Given the description of an element on the screen output the (x, y) to click on. 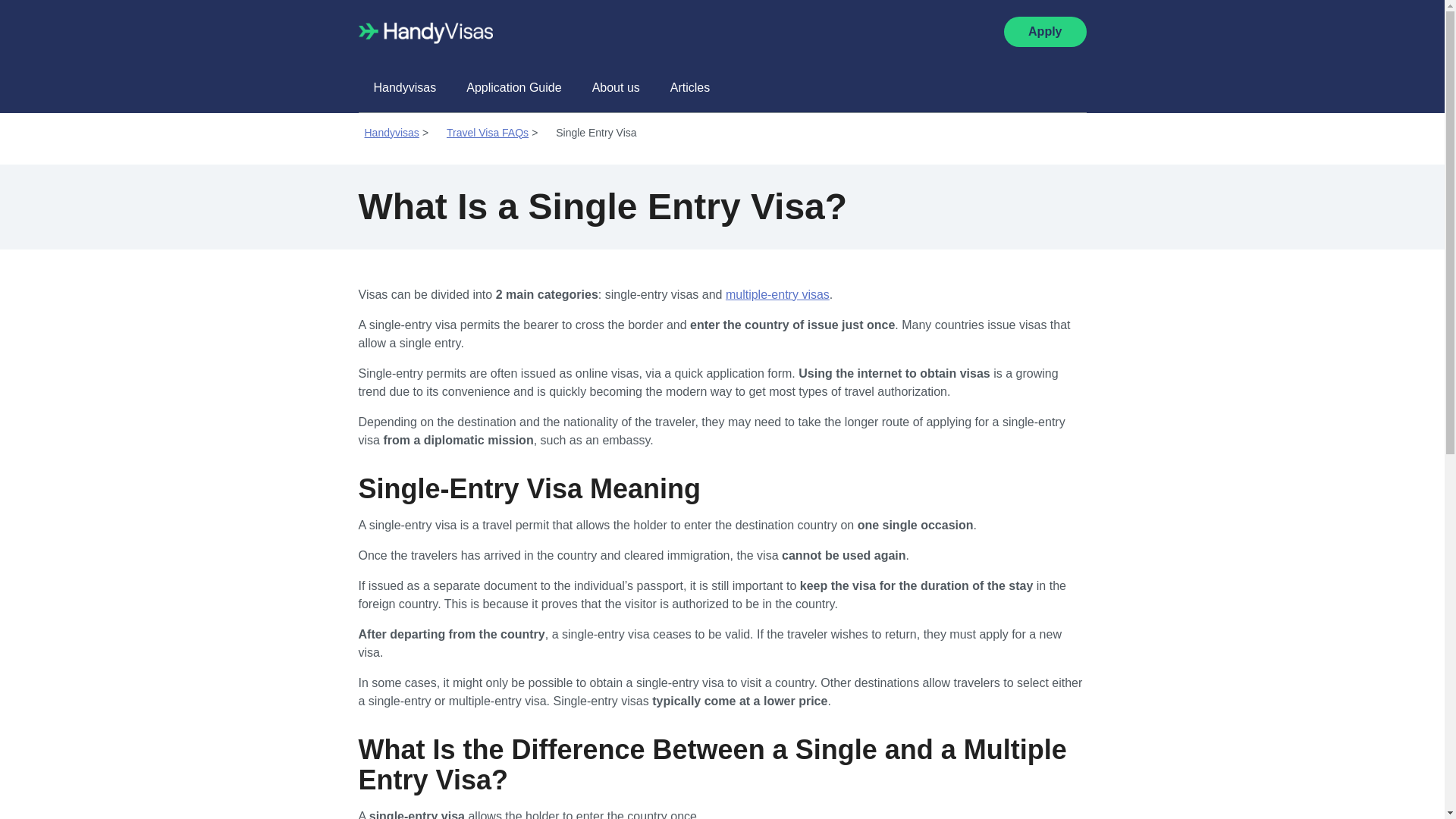
multiple-entry visas (777, 294)
Handyvisas (393, 132)
What Is a Single Entry Visa? (596, 132)
About us (615, 87)
Application Guide (513, 87)
Travel Visa FAQs (488, 132)
Travel Visa FAQs (488, 132)
Handyvisas (404, 87)
Articles (690, 87)
Logo (425, 31)
Apply (1045, 31)
Handyvisas (393, 132)
Articles (690, 87)
About us (615, 87)
Application Guide (513, 87)
